Given the description of an element on the screen output the (x, y) to click on. 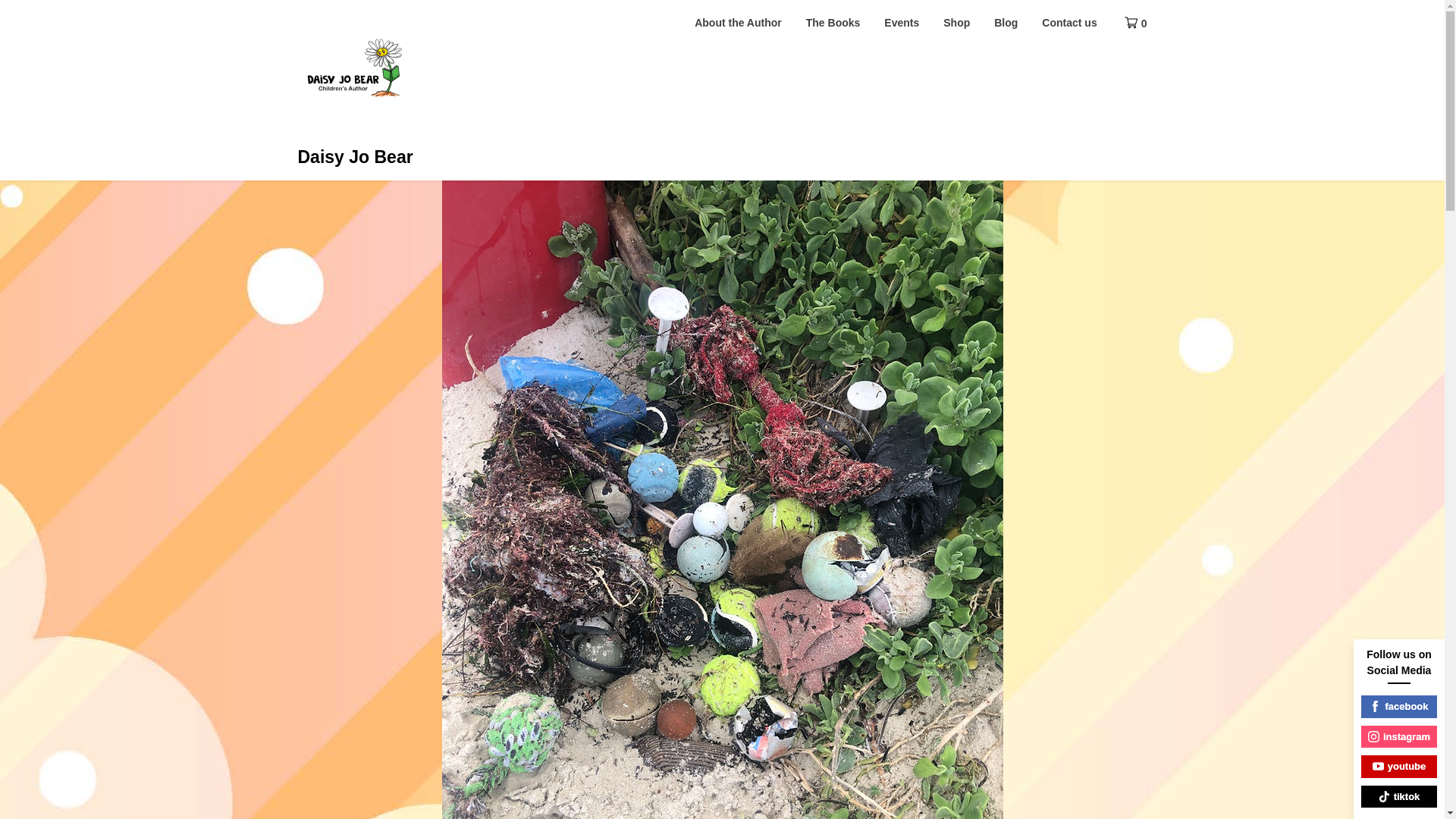
instagram (1399, 735)
Daisy Jo Bear (354, 157)
tiktok (1399, 796)
youtube (1399, 766)
The Books (832, 22)
Shop (956, 22)
Blog (1005, 22)
Events (901, 22)
Contact us (1068, 22)
facebook (1399, 706)
